Given the description of an element on the screen output the (x, y) to click on. 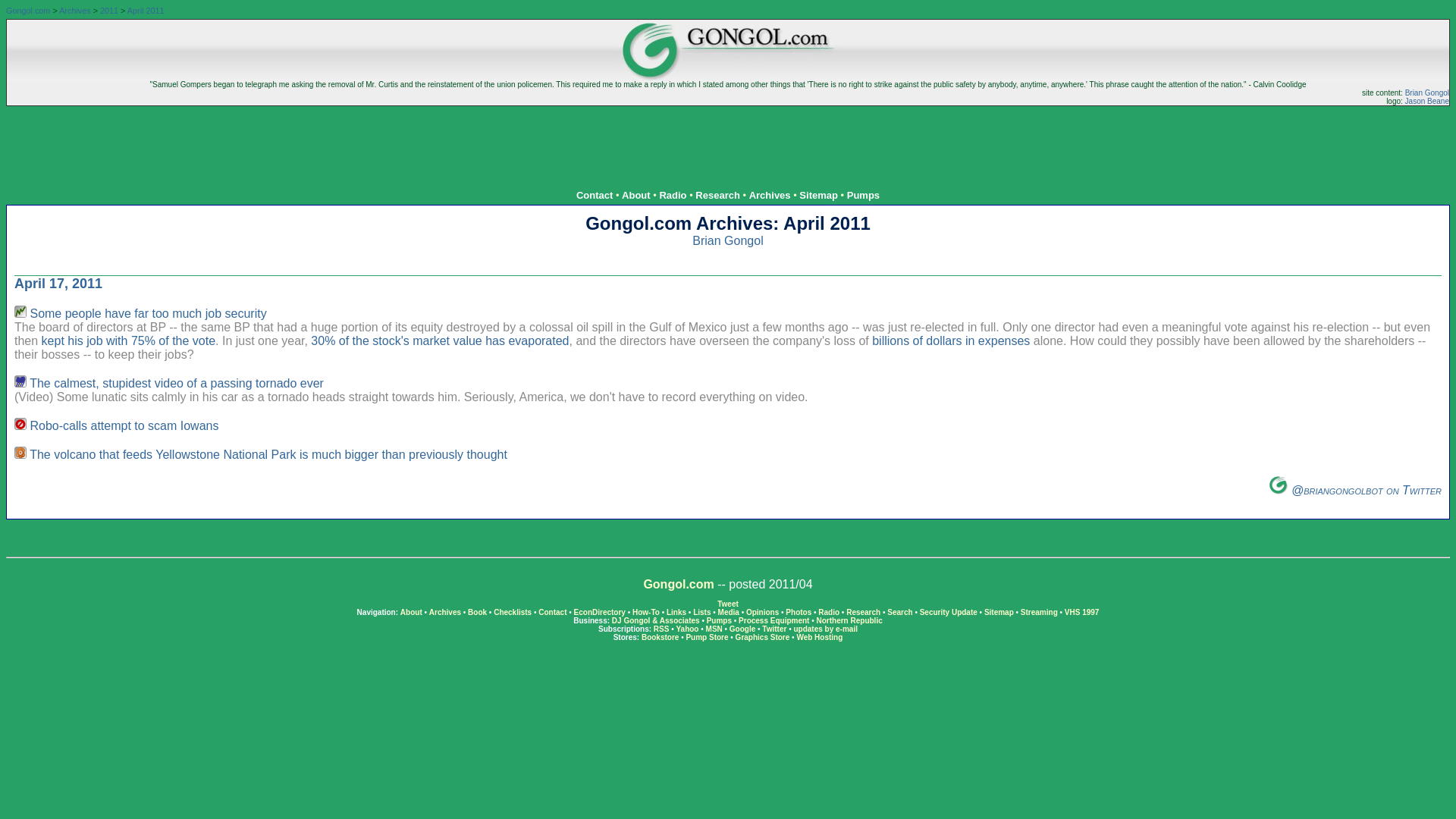
Photos (798, 612)
Brian Gongol (727, 240)
Archives (769, 194)
About (635, 194)
Archives (74, 10)
Links (675, 612)
Radio (672, 194)
Robo-calls attempt to scam Iowans (123, 425)
Advertisement (727, 139)
Book (476, 612)
